Given the description of an element on the screen output the (x, y) to click on. 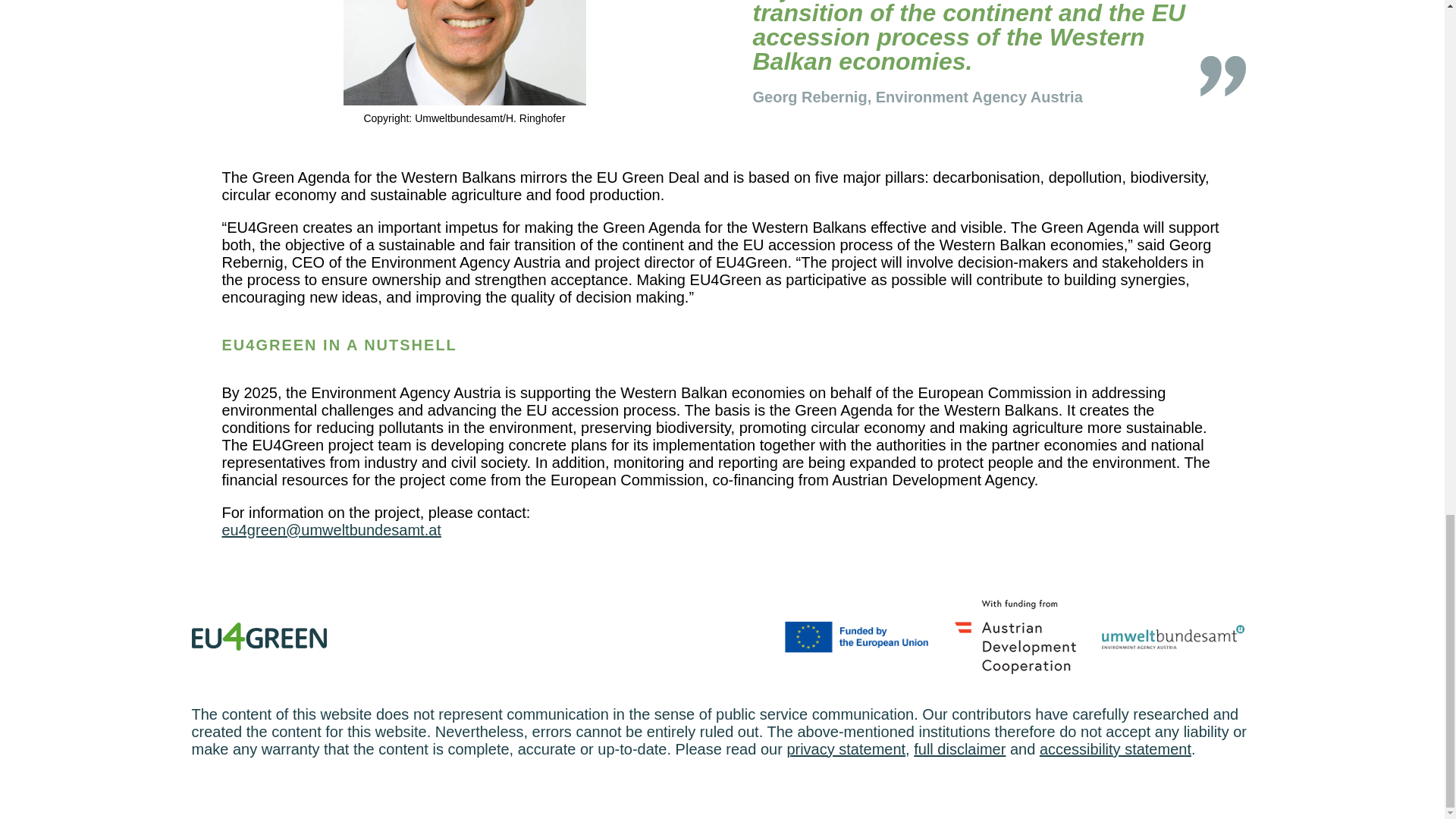
This is a logo for Austrian Development Cooperation (1015, 636)
This is a footer logo for EU4Green (258, 636)
This is a logo for Founded by European Union logo (856, 636)
This is a logo for Umweltbundesamt (1173, 636)
